Given the description of an element on the screen output the (x, y) to click on. 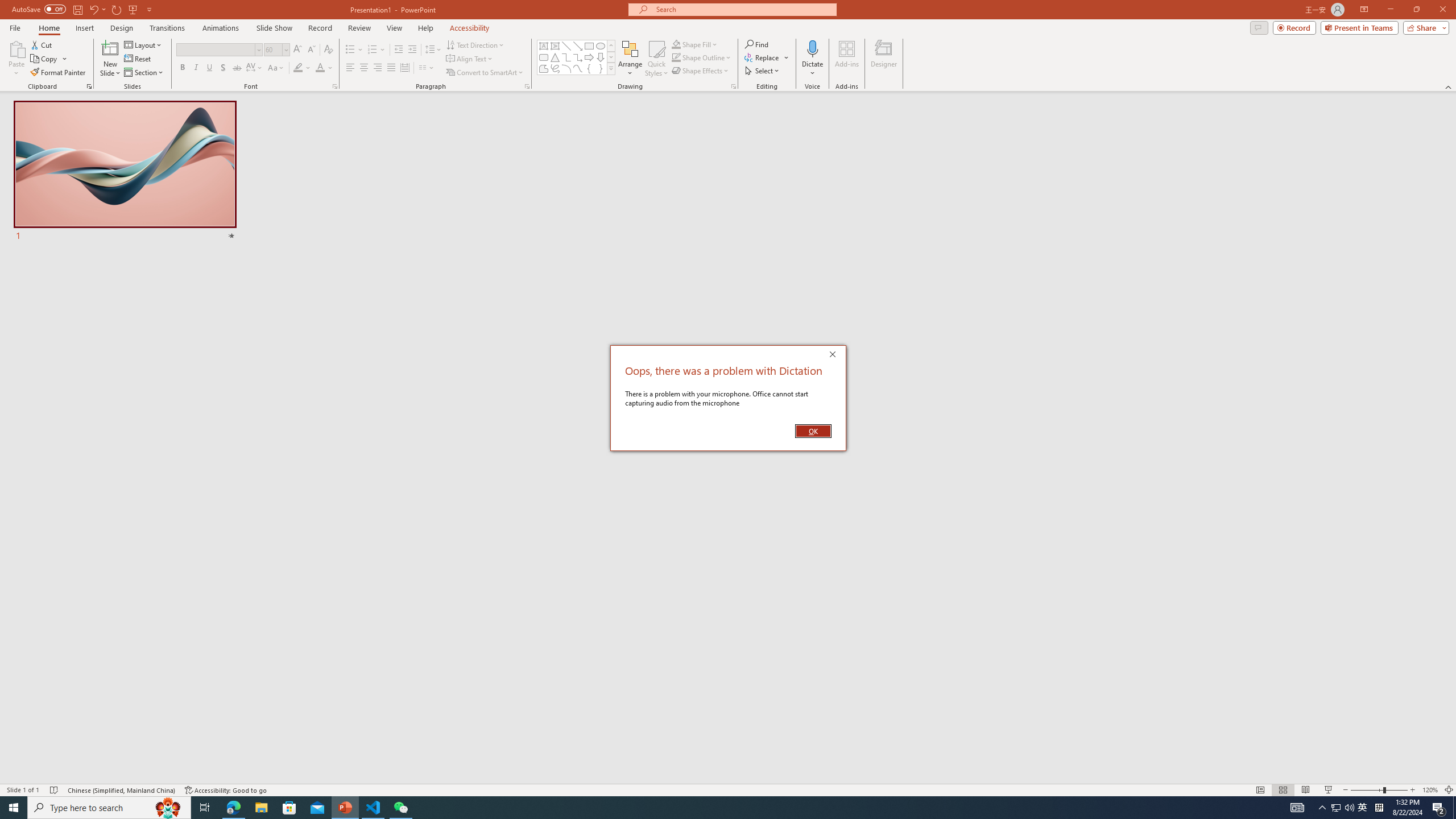
Accessibility Checker Accessibility: Good to go (226, 790)
